Given the description of an element on the screen output the (x, y) to click on. 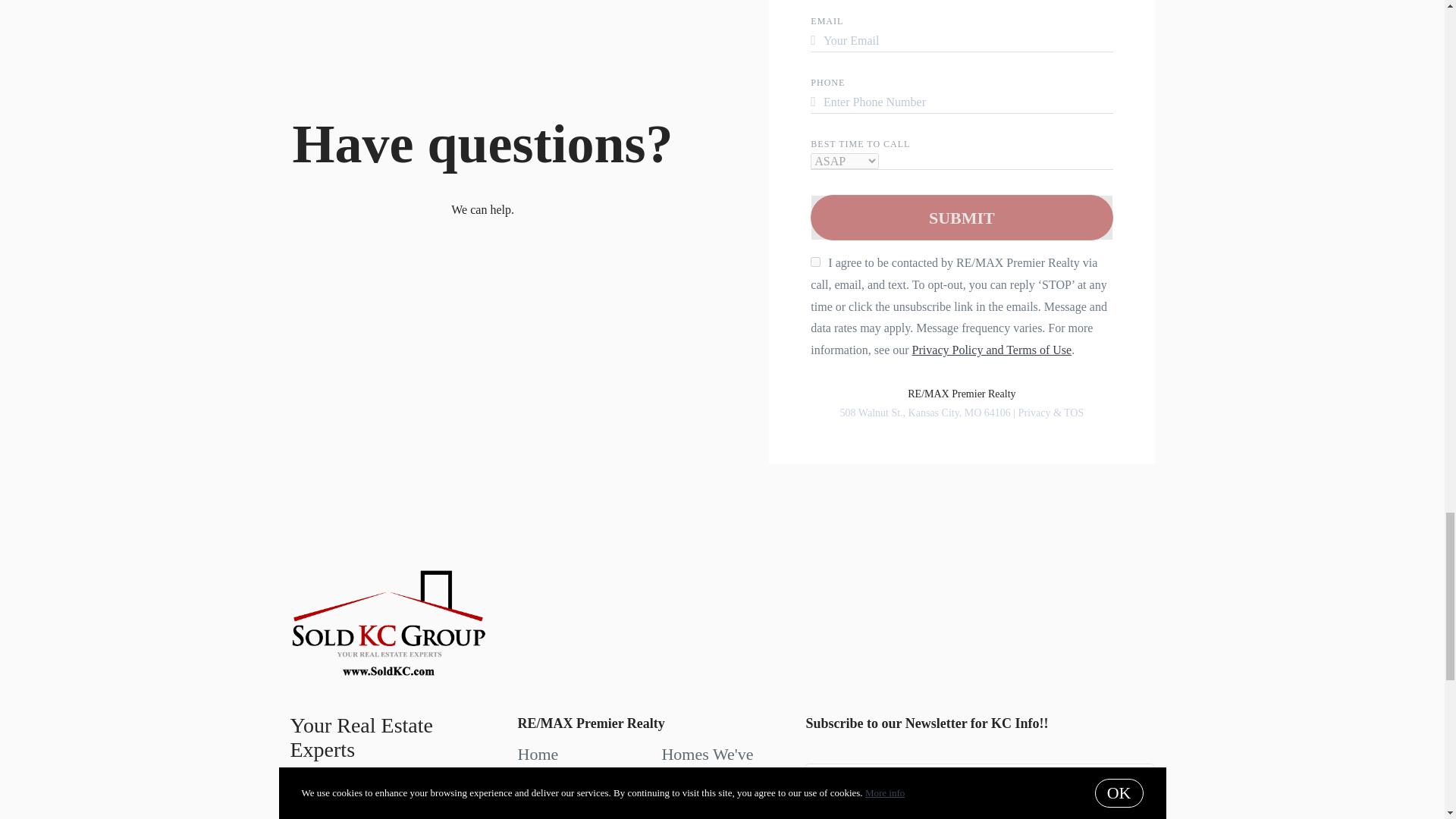
on (815, 261)
Privacy Policy and Terms of Use (991, 349)
SUBMIT (961, 217)
